Given the description of an element on the screen output the (x, y) to click on. 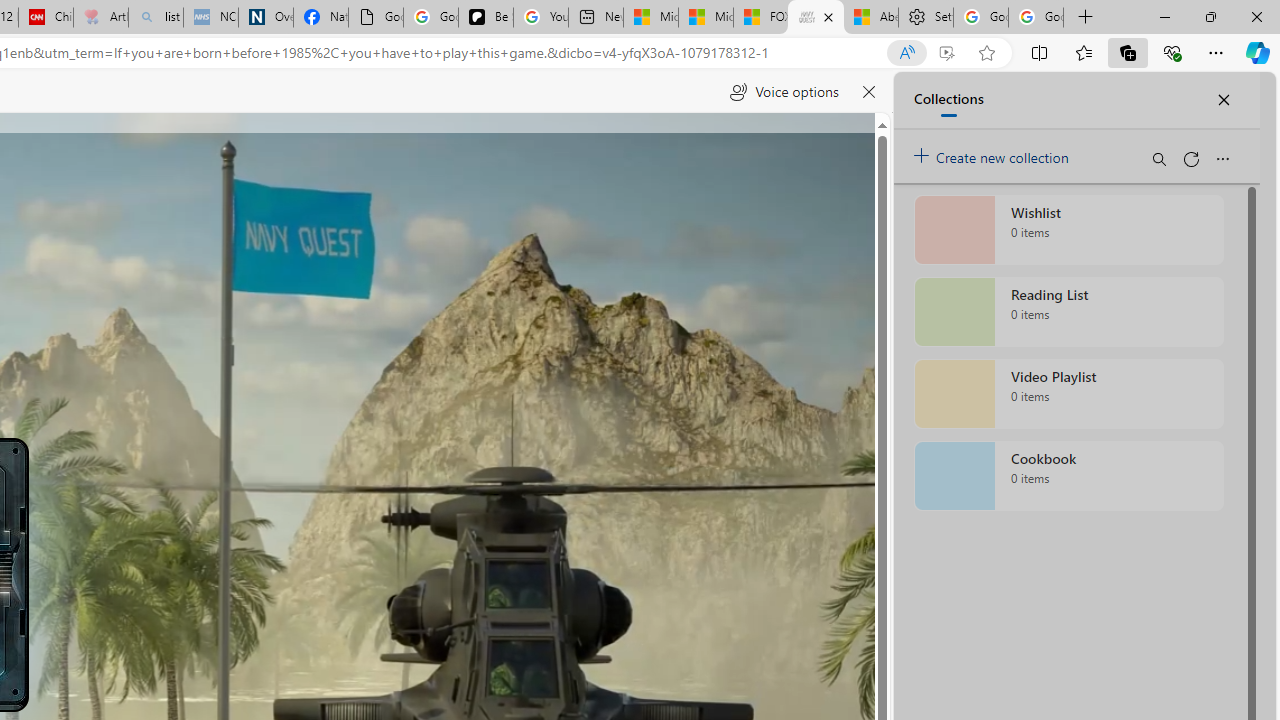
Google Analytics Opt-out Browser Add-on Download Page (376, 17)
Close tab (828, 16)
Enhance video (946, 53)
Close read aloud (868, 92)
Minimize (1164, 16)
Split screen (1039, 52)
Restore (1210, 16)
Navy Quest (815, 17)
Close (1256, 16)
NCL Adult Asthma Inhaler Choice Guideline - Sleeping (211, 17)
Copilot (Ctrl+Shift+.) (1258, 52)
Settings (925, 17)
list of asthma inhalers uk - Search - Sleeping (156, 17)
